Given the description of an element on the screen output the (x, y) to click on. 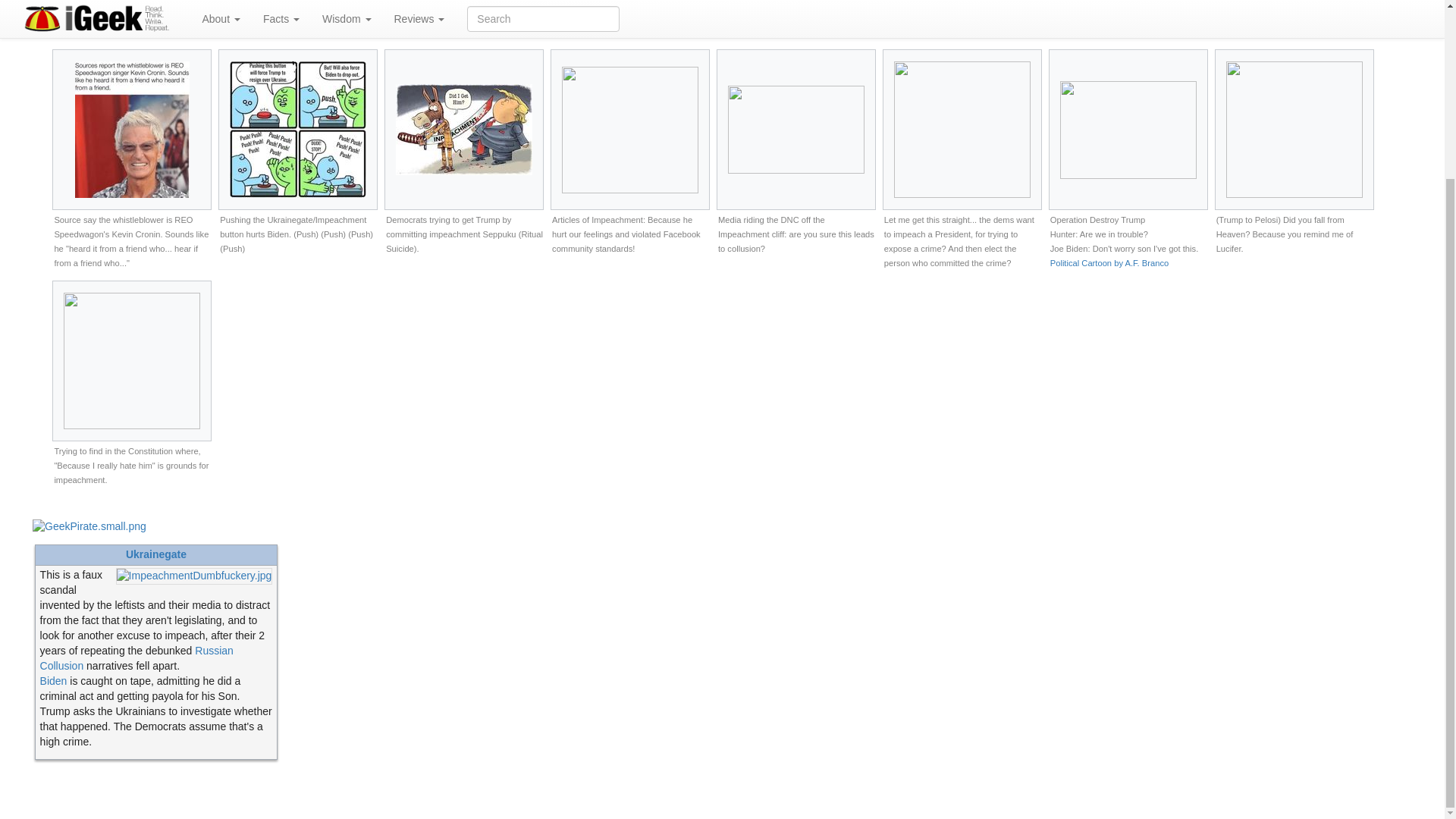
Russiagate (136, 657)
Biden and Ukraine (53, 680)
Branco (1109, 262)
Ukrainegate (155, 553)
Ukrainegate (194, 574)
Main Page (89, 526)
